Given the description of an element on the screen output the (x, y) to click on. 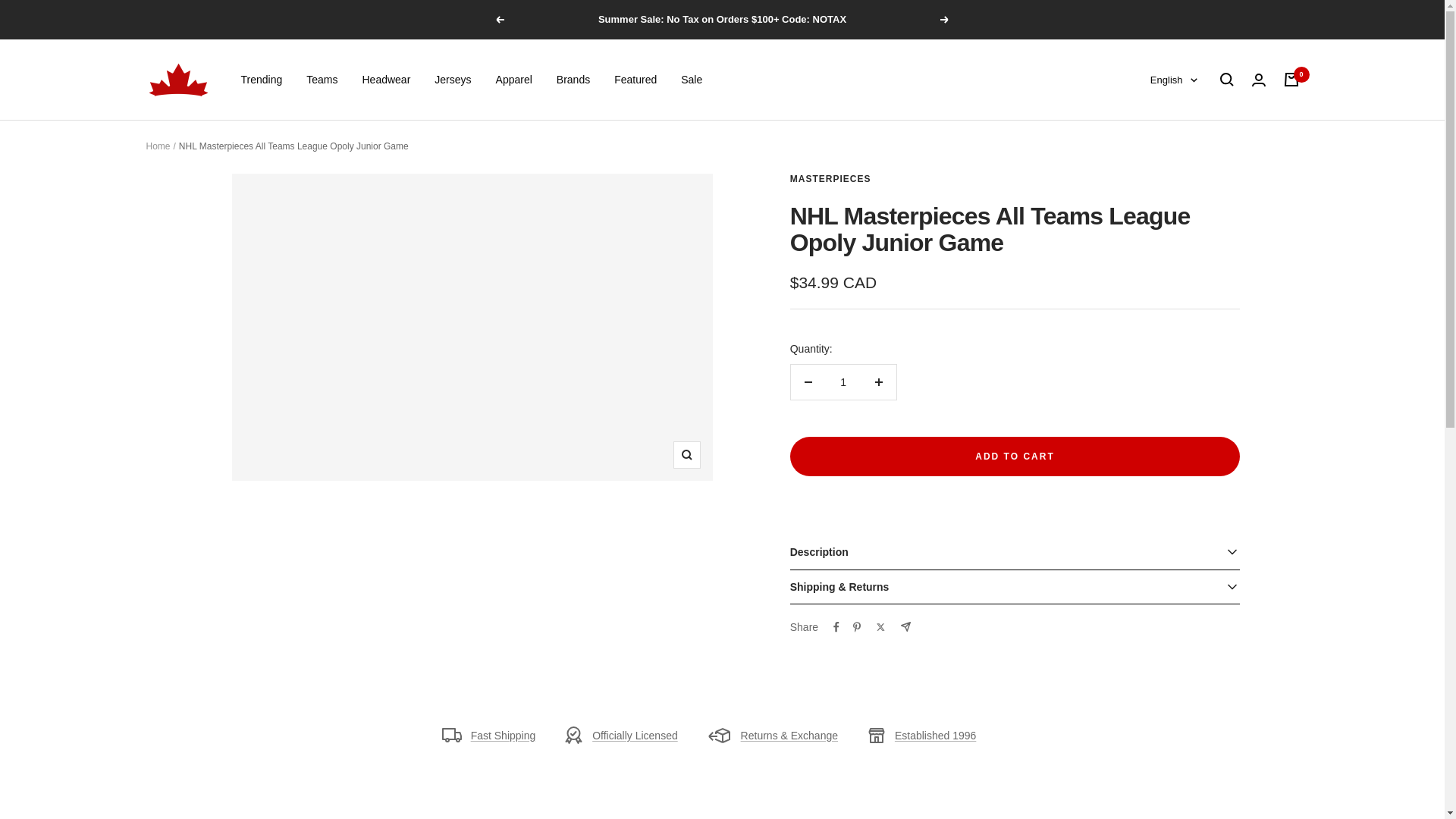
Featured (635, 79)
Brands (572, 79)
fr (1164, 154)
English (1173, 80)
1 (843, 381)
Teams (321, 79)
Headwear (385, 79)
Jerseys (451, 79)
Trending (261, 79)
Next (944, 19)
